Given the description of an element on the screen output the (x, y) to click on. 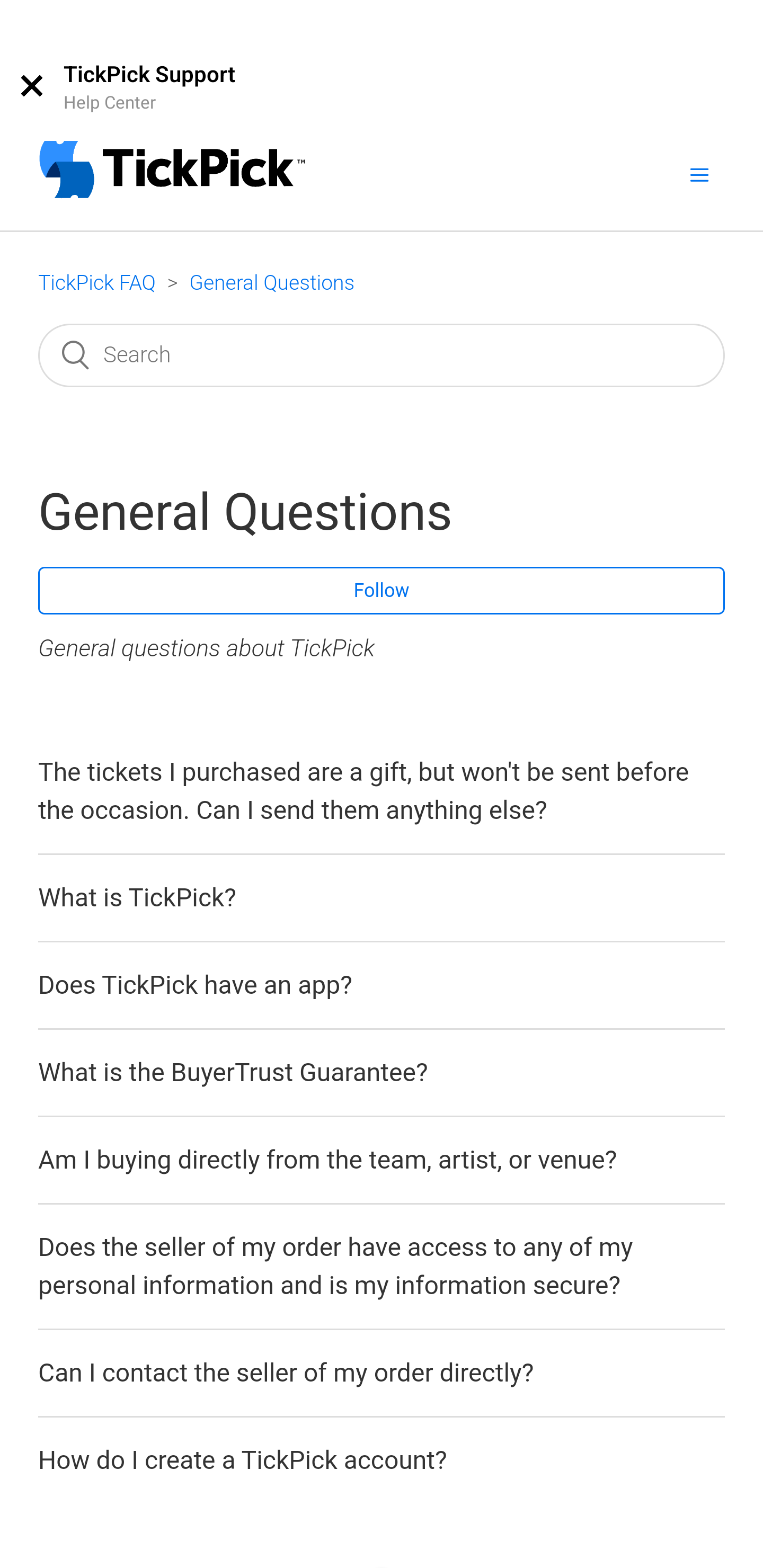
TickPick FAQ Help Center home page (171, 171)
Toggle navigation menu (698, 173)
TickPick FAQ (96, 282)
General Questions (272, 282)
Follow (381, 590)
What is TickPick? (137, 897)
Does TickPick have an app? (195, 985)
What is the BuyerTrust Guarantee? (233, 1072)
Can I contact the seller of my order directly? (286, 1373)
How do I create a TickPick account? (243, 1460)
